Given the description of an element on the screen output the (x, y) to click on. 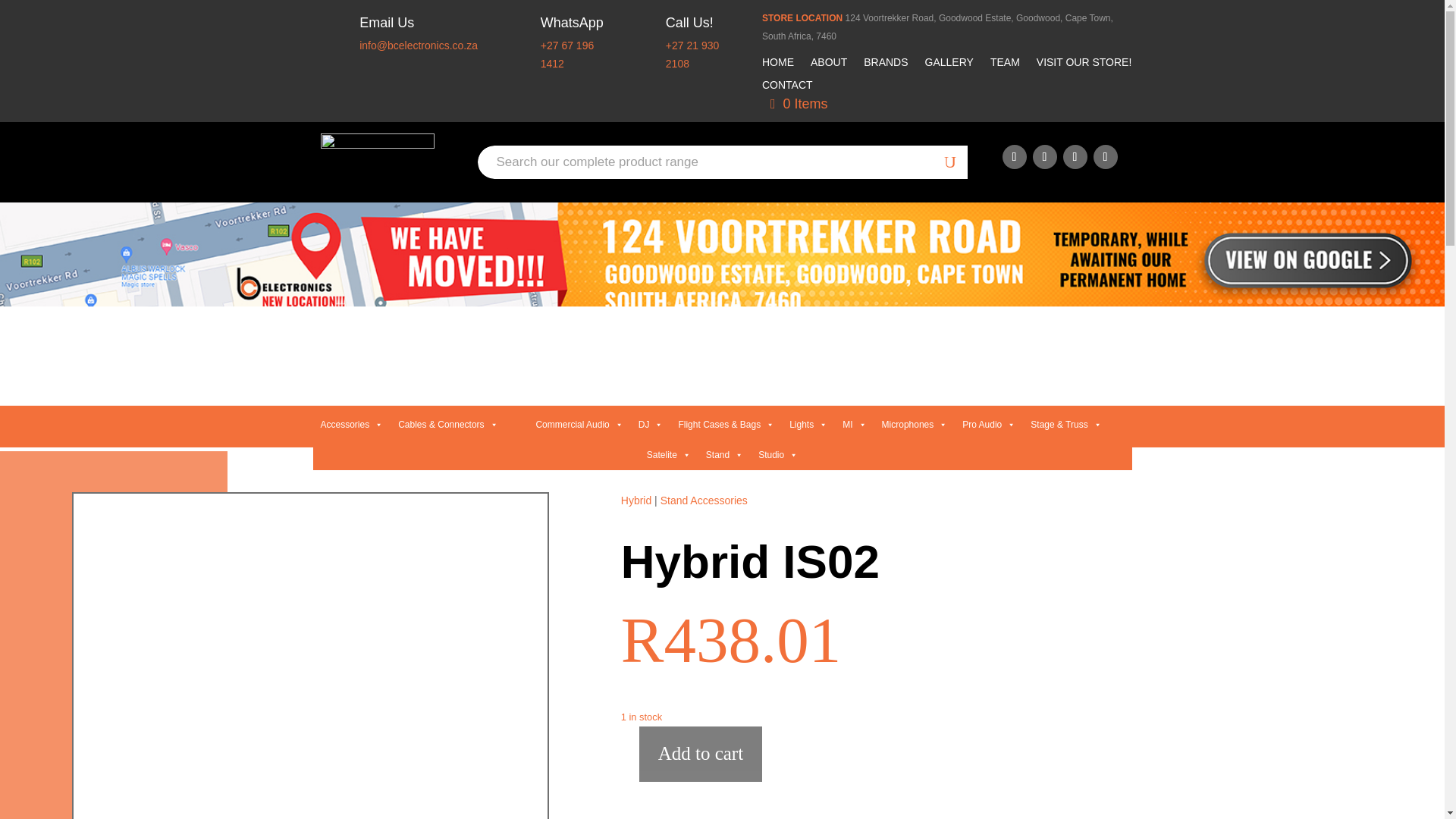
GALLERY (949, 64)
Follow on Youtube (1074, 156)
WhatsApp (572, 22)
Accessories (351, 424)
HOME (777, 64)
ABOUT (828, 64)
CONTACT (786, 87)
Search (24, 16)
0 Items (799, 104)
Follow on Facebook (1014, 156)
